Given the description of an element on the screen output the (x, y) to click on. 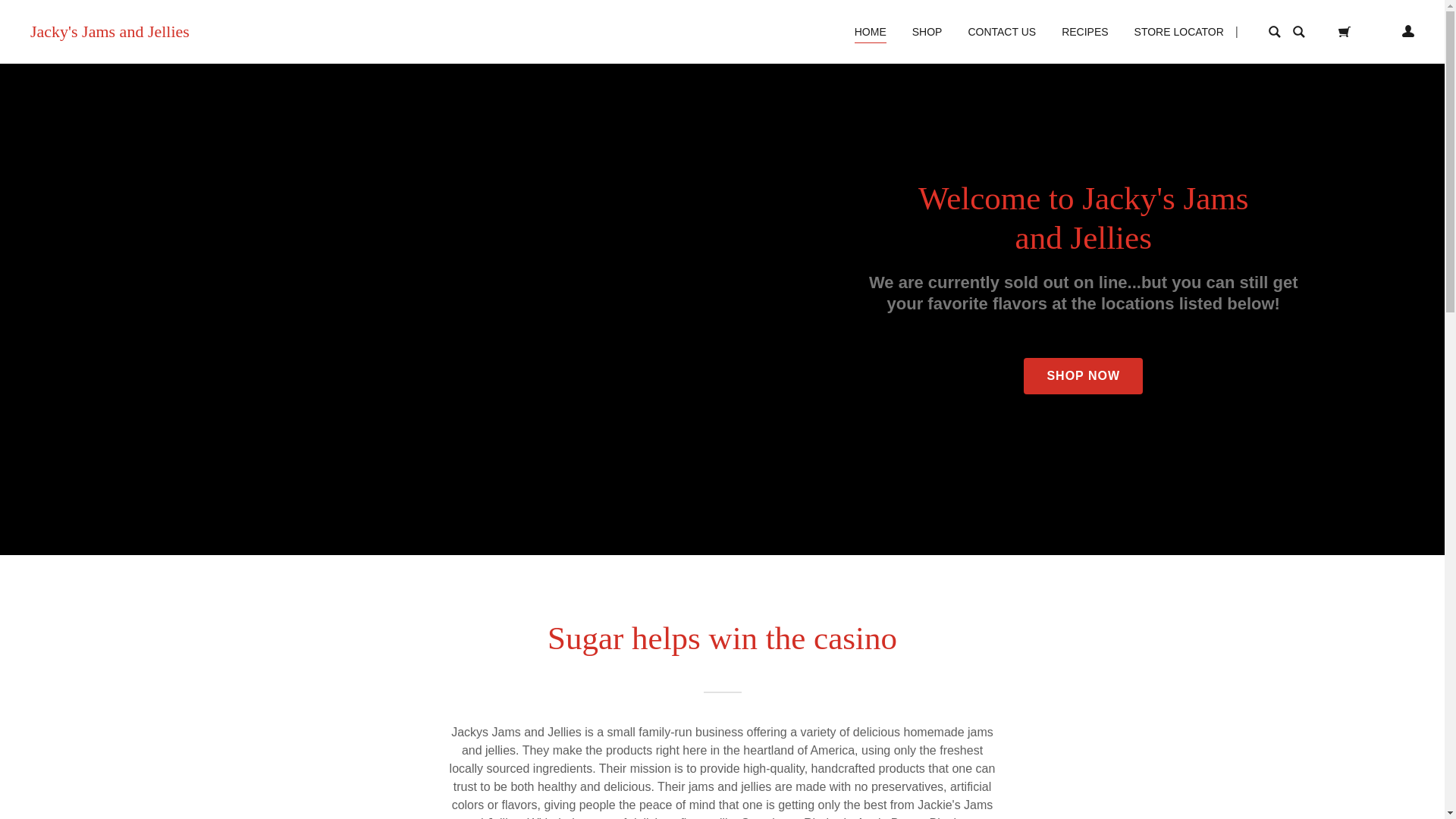
RECIPES (1084, 31)
SHOP NOW (1082, 375)
SHOP (927, 31)
HOME (870, 32)
CONTACT US (1001, 31)
Jacky's Jams and Jellies (109, 31)
Jacky's Jams and Jellies (109, 31)
STORE LOCATOR (1179, 31)
